Given the description of an element on the screen output the (x, y) to click on. 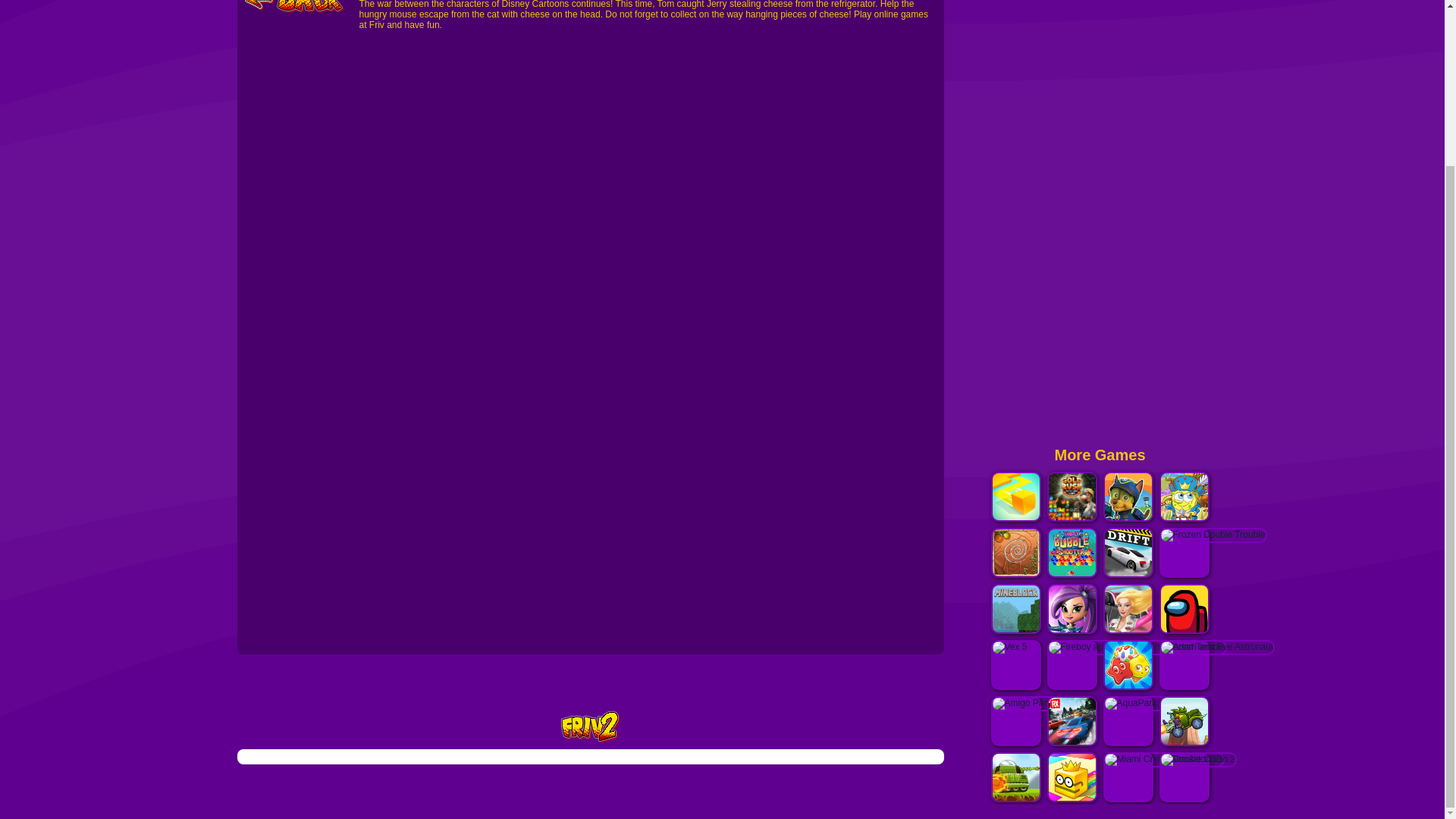
Advertisement (1098, 216)
